Given the description of an element on the screen output the (x, y) to click on. 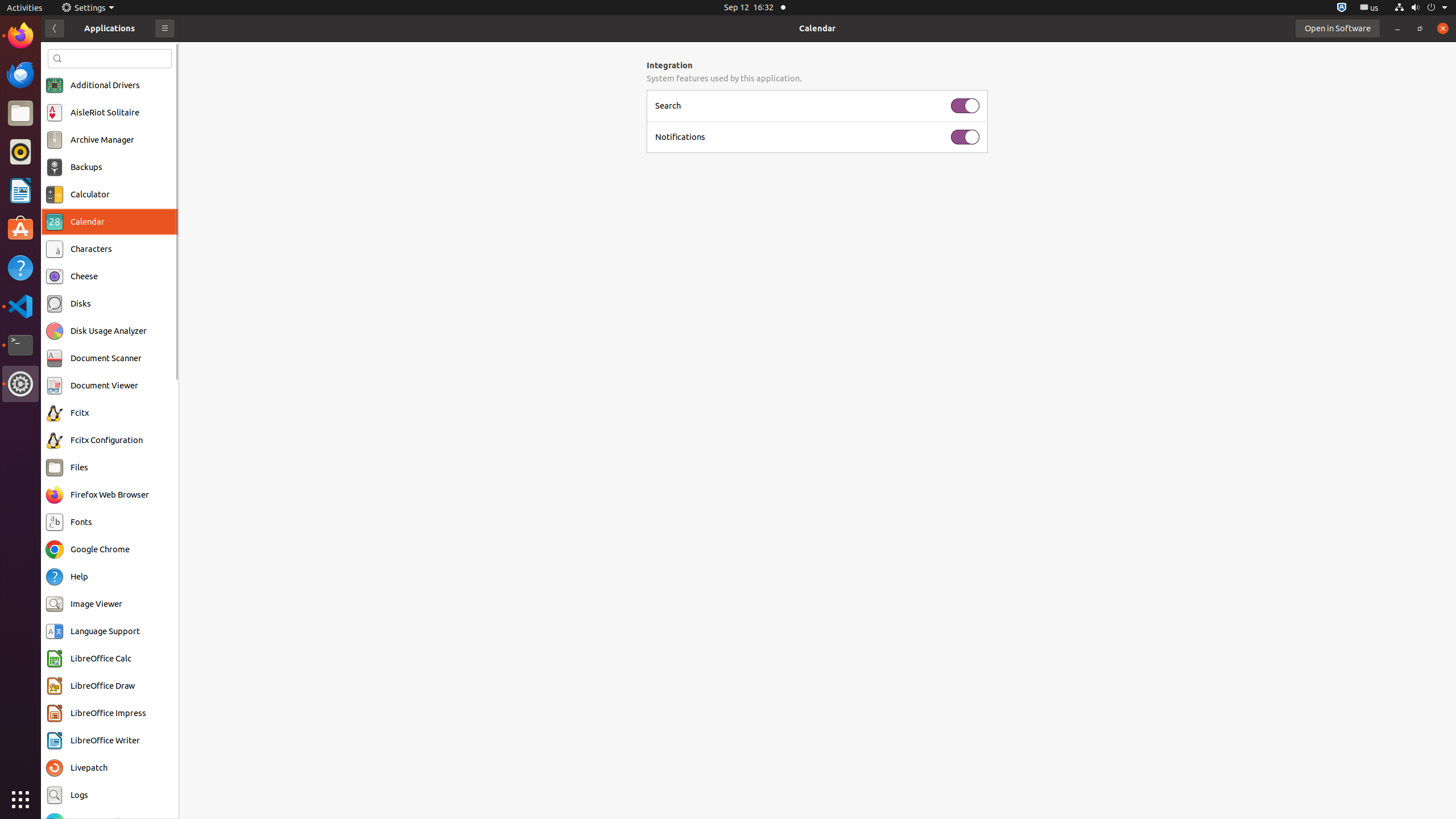
li.txt Element type: label (146, 50)
Trash Element type: label (75, 108)
